Given the description of an element on the screen output the (x, y) to click on. 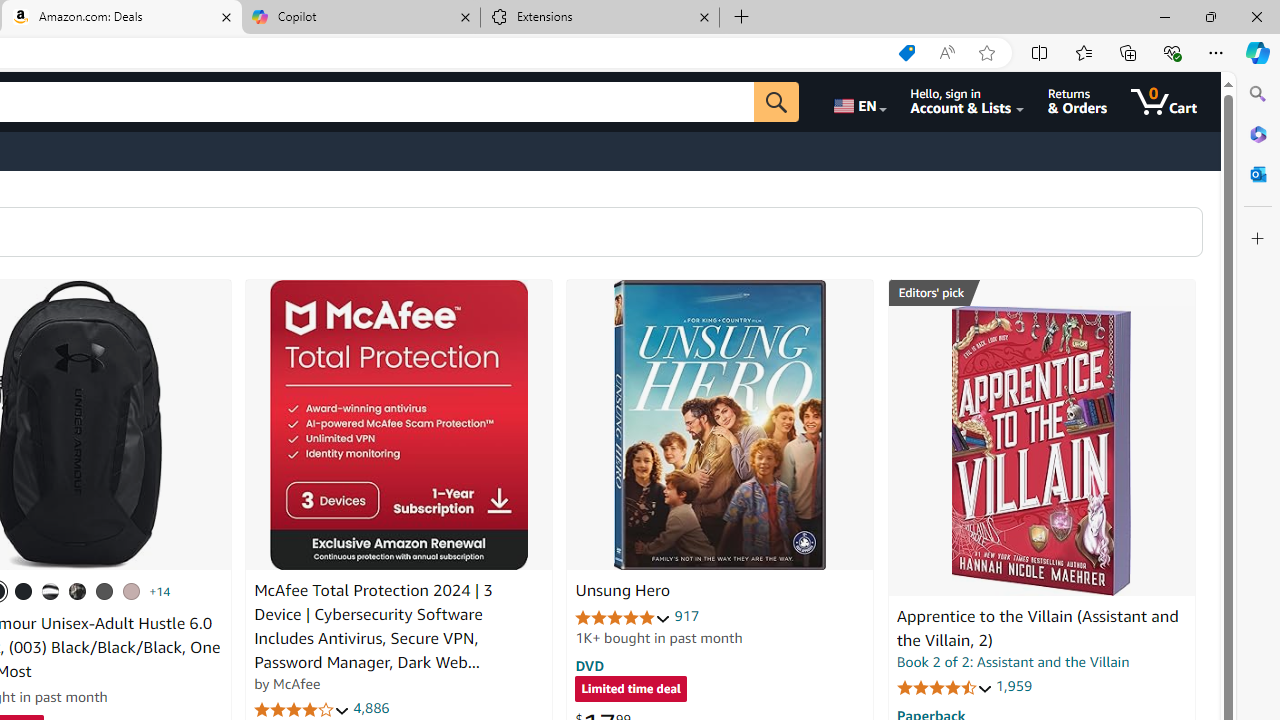
Editors' pick Best Science Fiction & Fantasy (1041, 293)
Go (776, 101)
Copilot (Ctrl+Shift+.) (1258, 52)
Close Outlook pane (1258, 174)
Shopping in Microsoft Edge (906, 53)
(015) Tetra Gray / Tetra Gray / Gray Matter (131, 591)
Settings and more (Alt+F) (1215, 52)
Split screen (1039, 52)
Browser essentials (1171, 52)
Choose a language for shopping. (858, 101)
Favorites (1083, 52)
Microsoft 365 (1258, 133)
0 items in cart (1163, 101)
DVD (589, 665)
Restore (1210, 16)
